Given the description of an element on the screen output the (x, y) to click on. 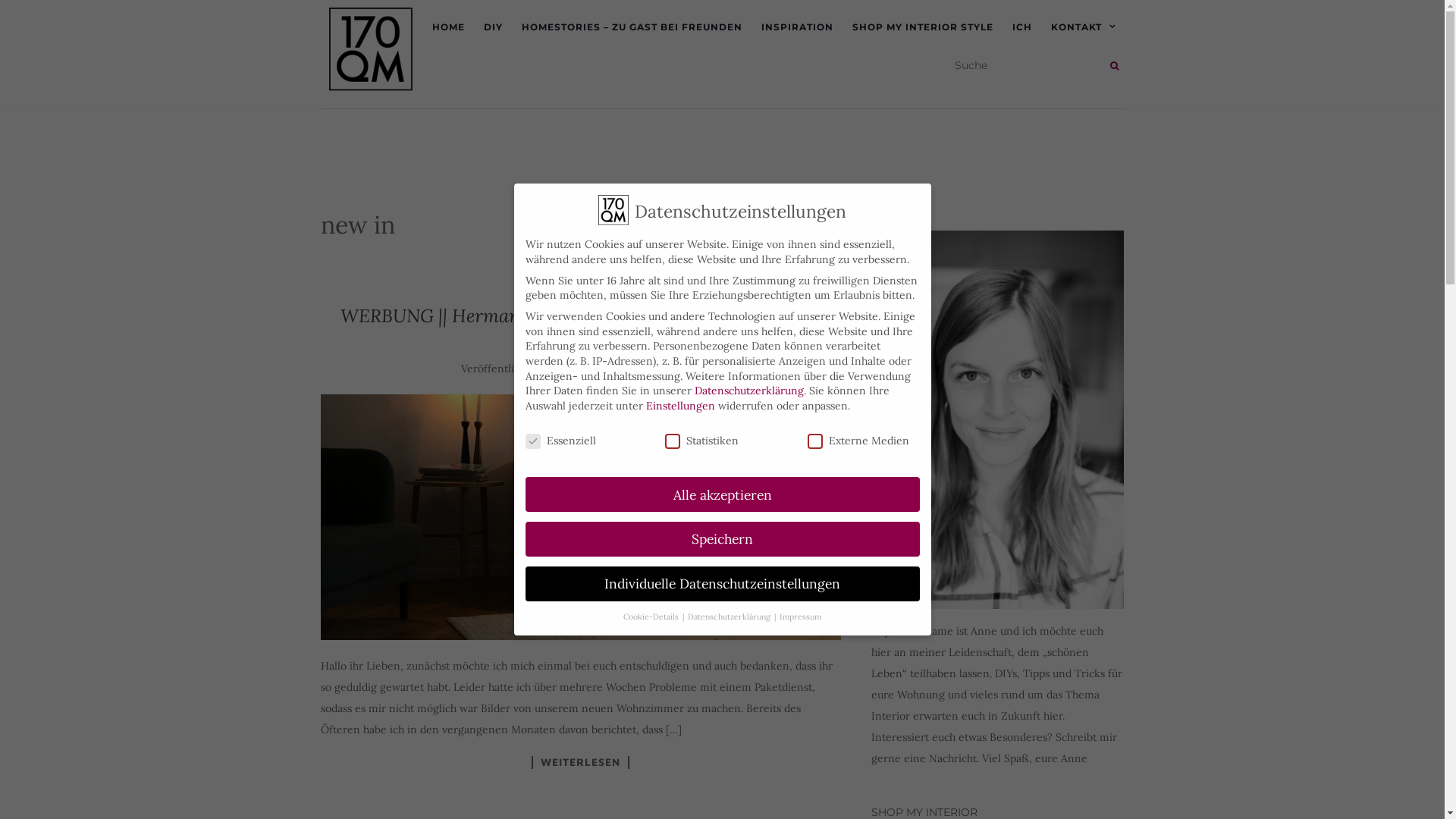
INSPIRATION Element type: text (797, 26)
Cookie-Details Element type: text (651, 616)
DIY Element type: text (492, 26)
WEITERLESEN Element type: text (580, 762)
Impressum Element type: text (800, 616)
23. November 2018 Element type: text (596, 368)
HOME Element type: text (448, 26)
Alle akzeptieren Element type: text (721, 493)
Anne Element type: text (681, 368)
Suche Element type: text (1114, 65)
ALLGEMEIN Element type: text (575, 279)
ICH Element type: text (1021, 26)
SHOP MY INTERIOR STYLE Element type: text (922, 26)
KONTAKT Element type: text (1087, 26)
Einstellungen Element type: text (680, 405)
Individuelle Datenschutzeinstellungen Element type: text (721, 583)
Speichern Element type: text (721, 538)
